Given the description of an element on the screen output the (x, y) to click on. 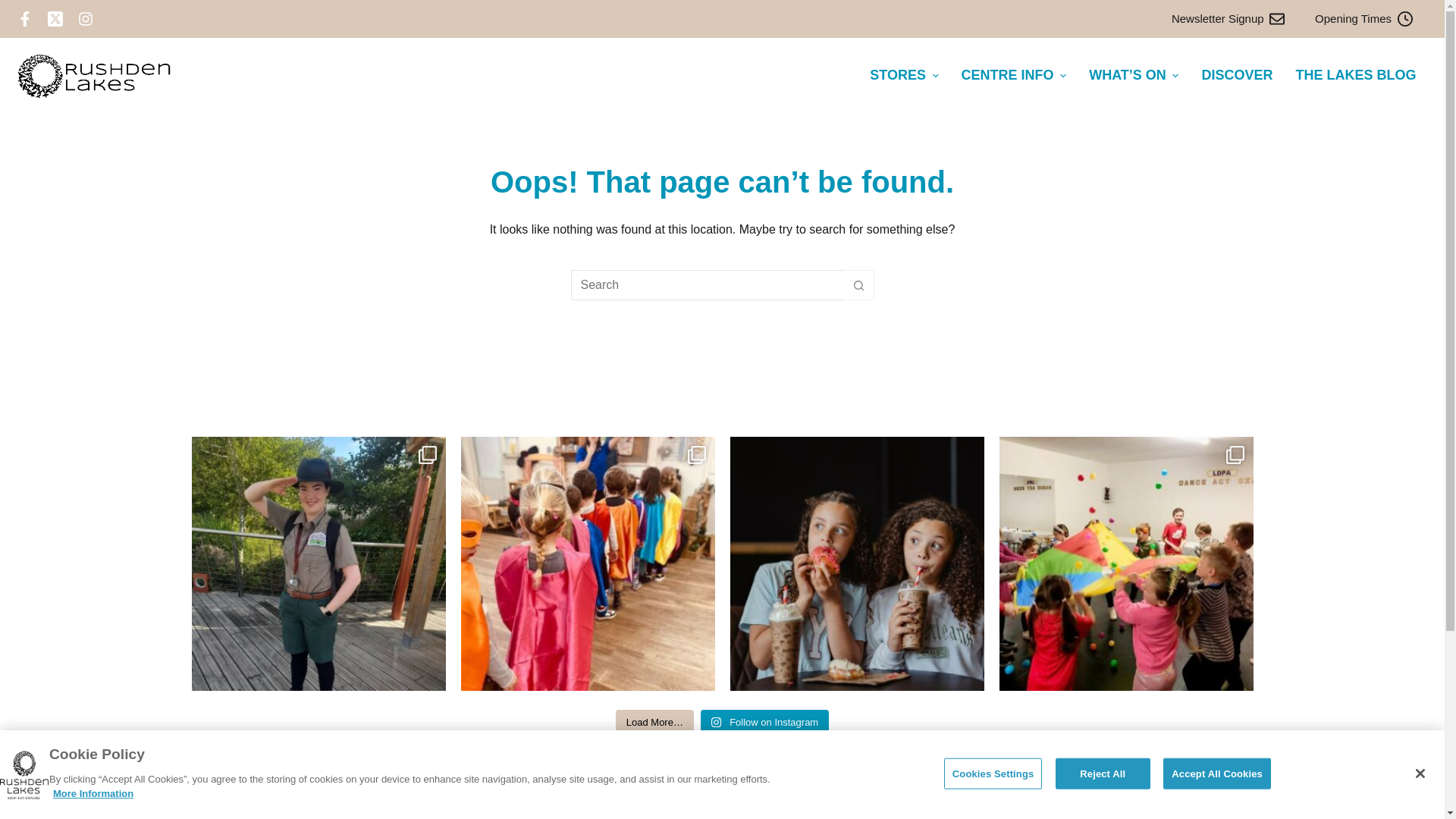
Skip to content (15, 7)
STORES (904, 75)
Submit (1066, 803)
Search for... (706, 285)
Company Logo (24, 775)
Newsletter Signup (1228, 19)
Opening Times (1363, 19)
